Given the description of an element on the screen output the (x, y) to click on. 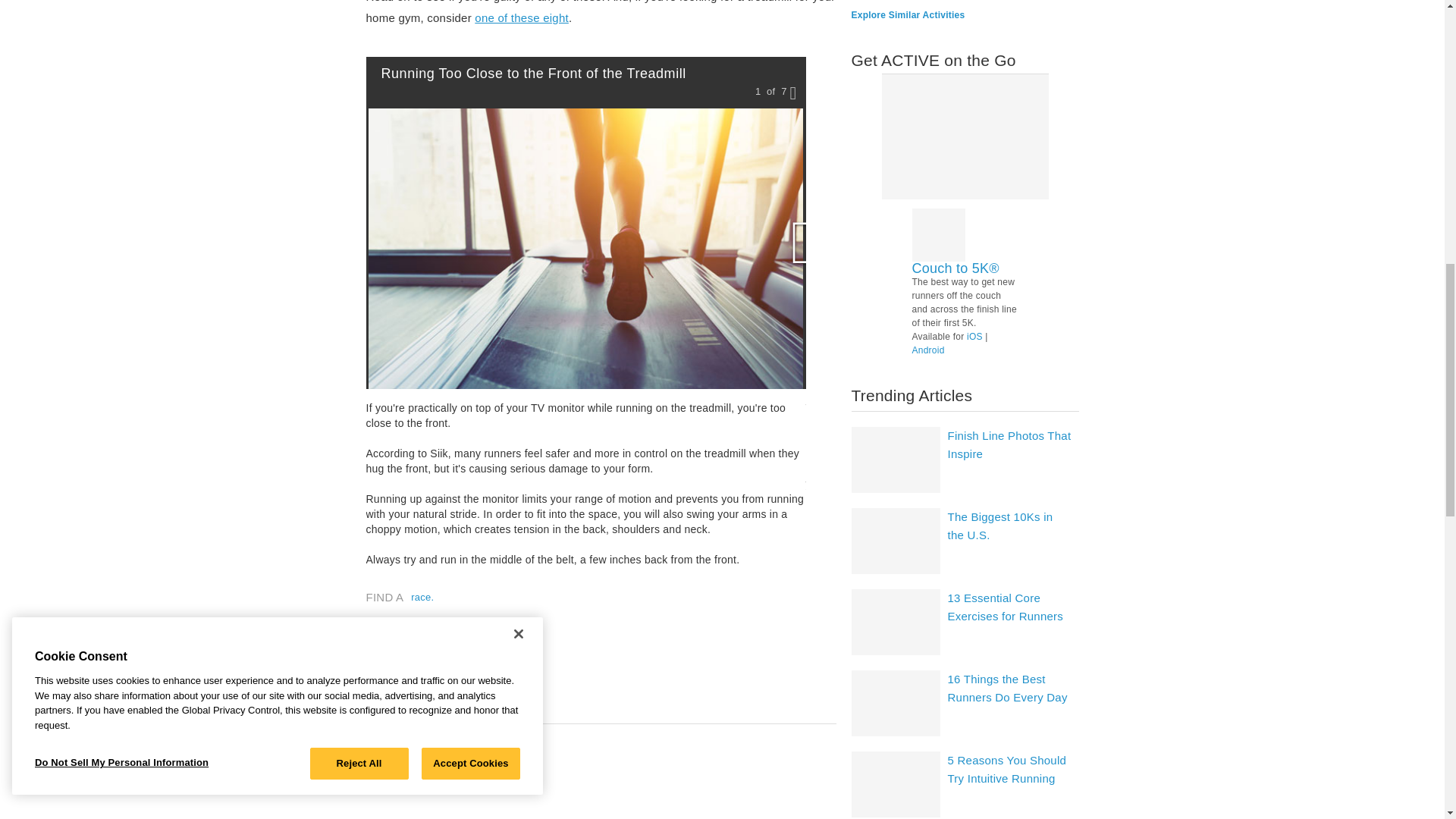
Share on Pinterest (446, 671)
Share on Twitter (413, 671)
More (521, 17)
Share on Facebook (378, 671)
